Given the description of an element on the screen output the (x, y) to click on. 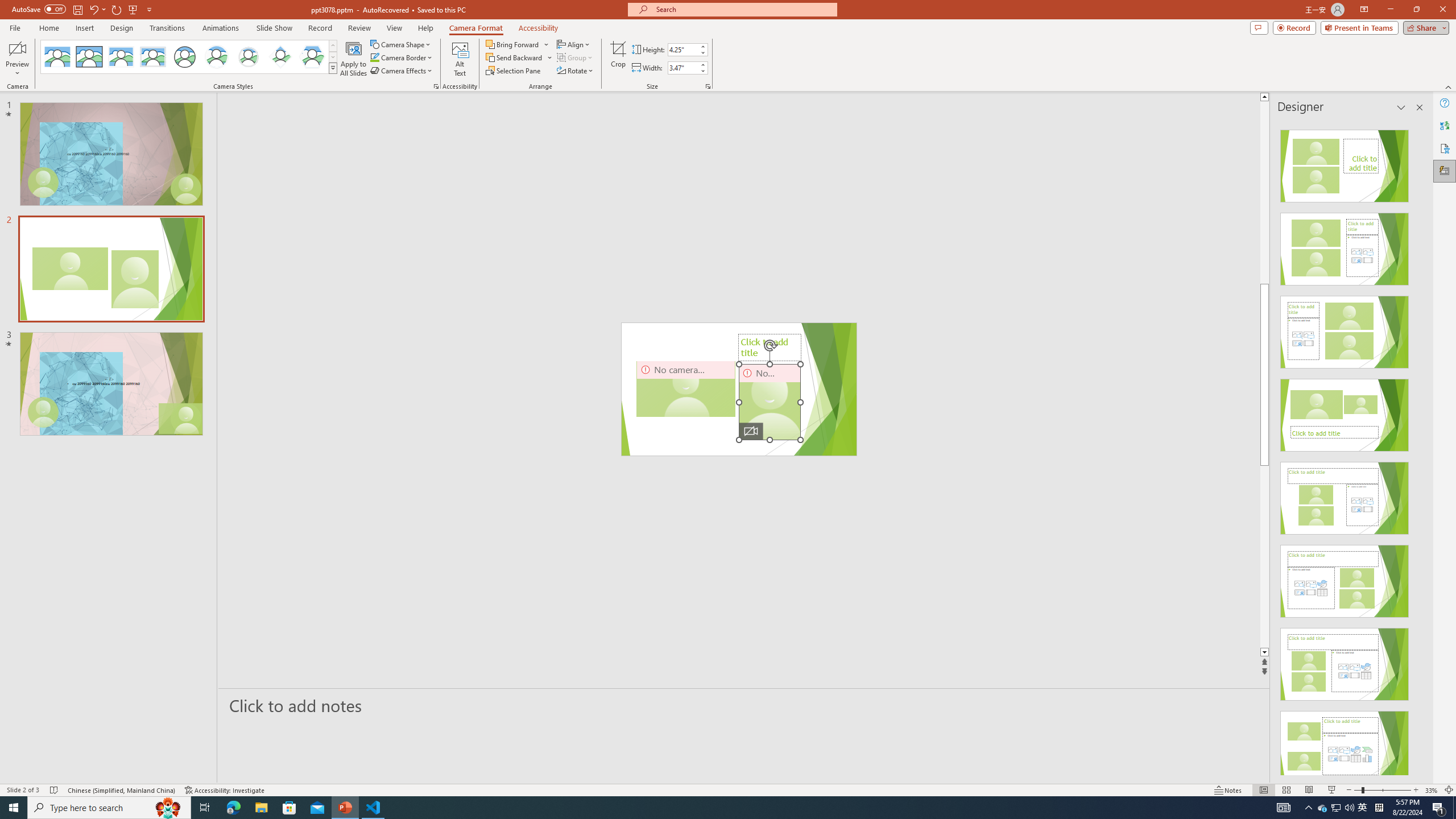
Bring Forward (513, 44)
Simple Frame Circle (184, 56)
Apply to All Slides (353, 58)
Camera Border Green, Accent 1 (374, 56)
